Given the description of an element on the screen output the (x, y) to click on. 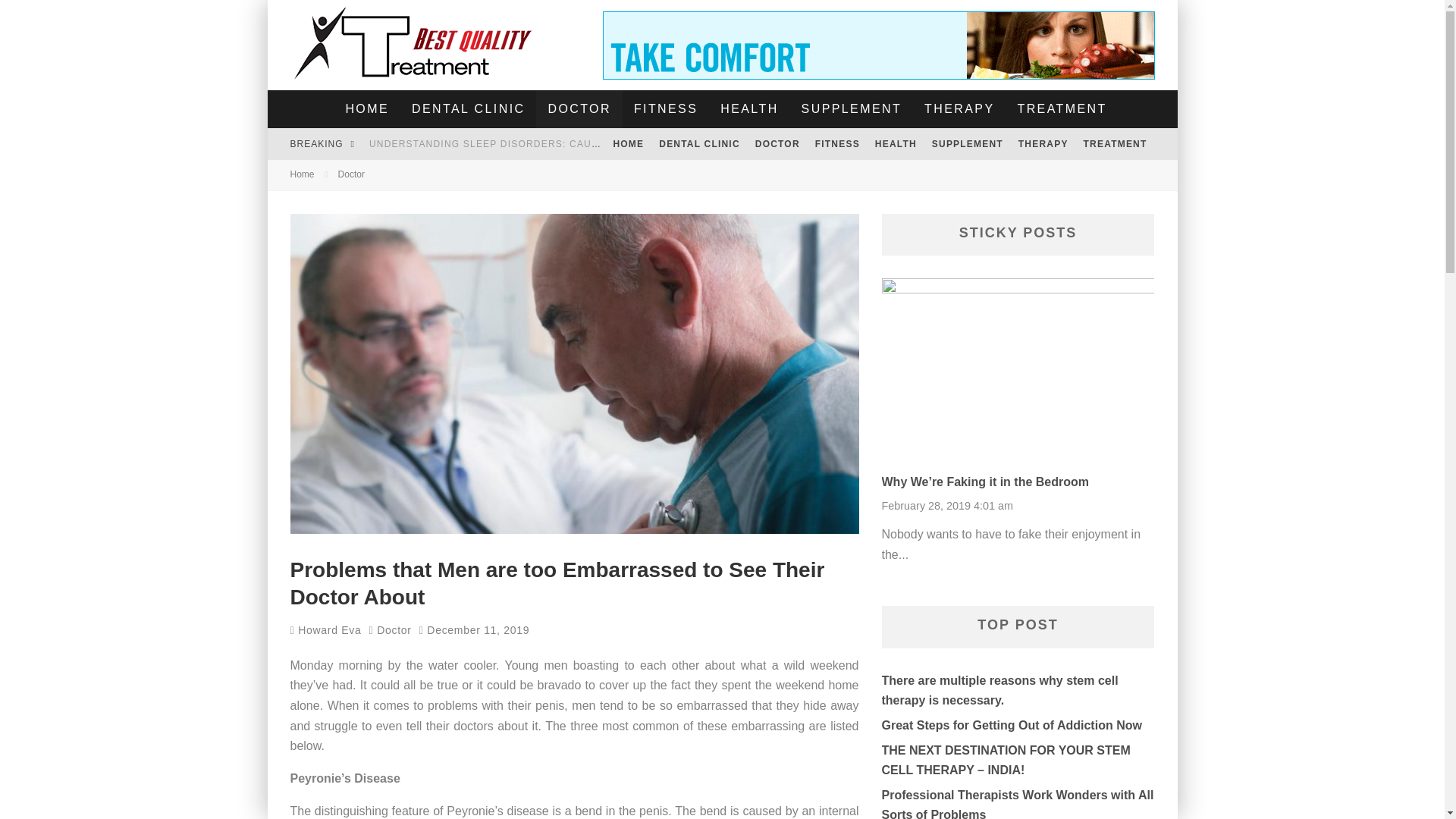
HOME (366, 108)
DOCTOR (578, 108)
DENTAL CLINIC (467, 108)
